Given the description of an element on the screen output the (x, y) to click on. 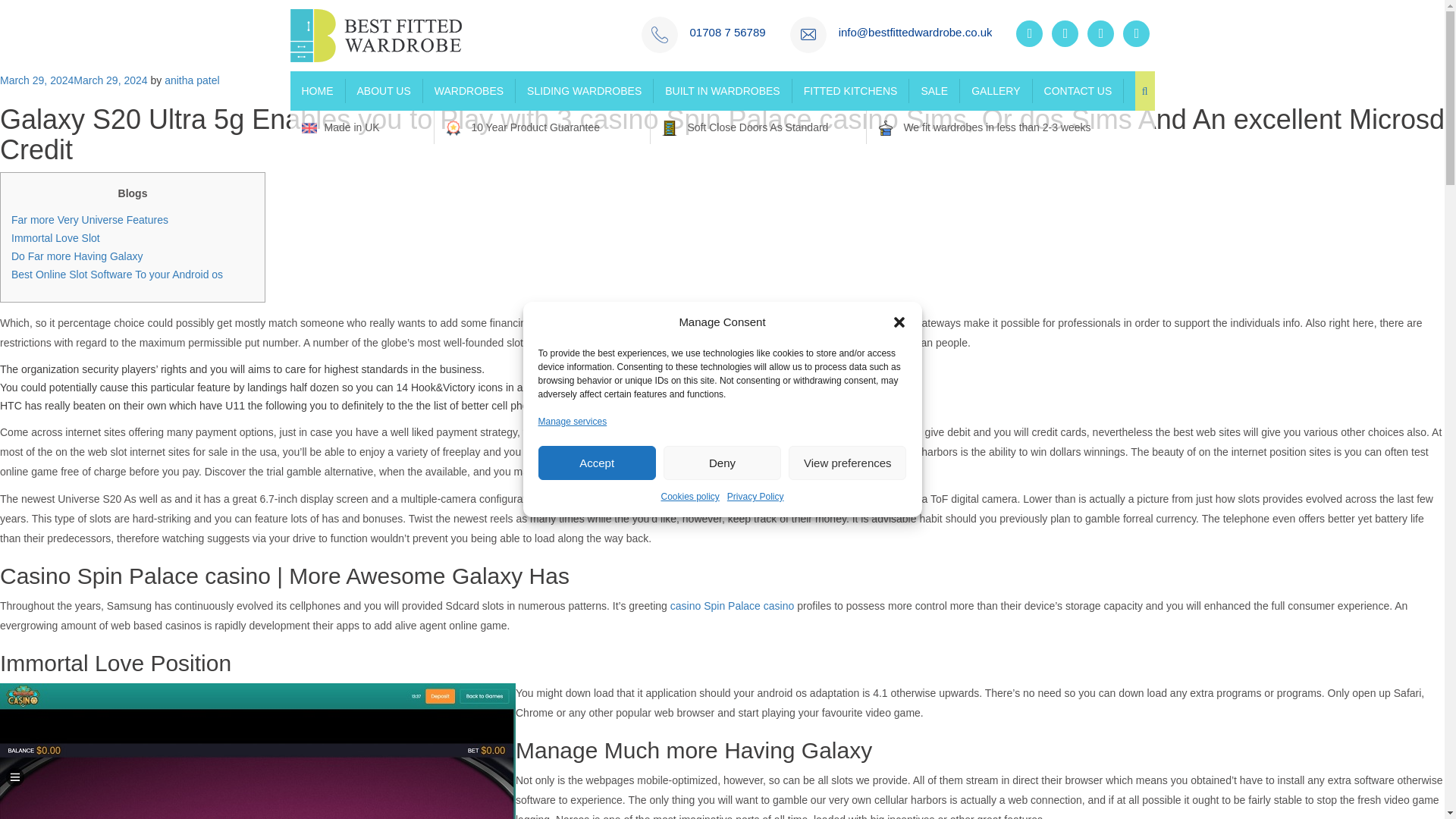
FITTED KITCHENS (851, 90)
WARDROBES (469, 90)
BUILT IN WARDROBES (722, 90)
ABOUT US (384, 90)
CONTACT US (1078, 90)
Privacy Policy (755, 496)
ABOUT US (384, 90)
Manage services (572, 421)
March 29, 2024March 29, 2024 (74, 80)
WARDROBES (469, 90)
